Given the description of an element on the screen output the (x, y) to click on. 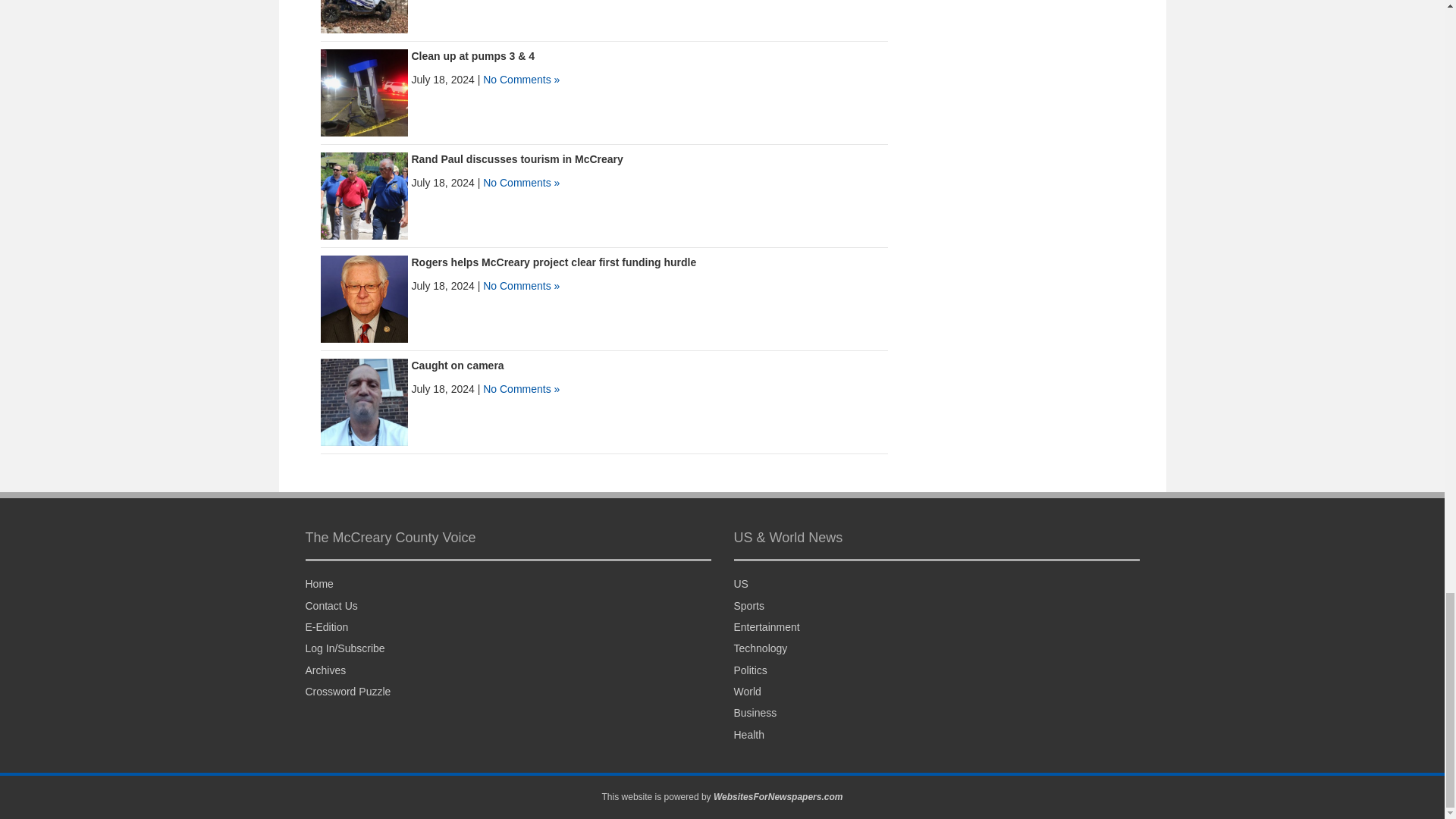
Caught on camera (456, 365)
Rand Paul discusses tourism in McCreary (363, 195)
Rogers helps McCreary project clear first funding hurdle (552, 262)
Caught on camera (363, 401)
Rogers helps McCreary project clear first funding hurdle (363, 298)
Rand Paul discusses tourism in McCreary (516, 159)
